Given the description of an element on the screen output the (x, y) to click on. 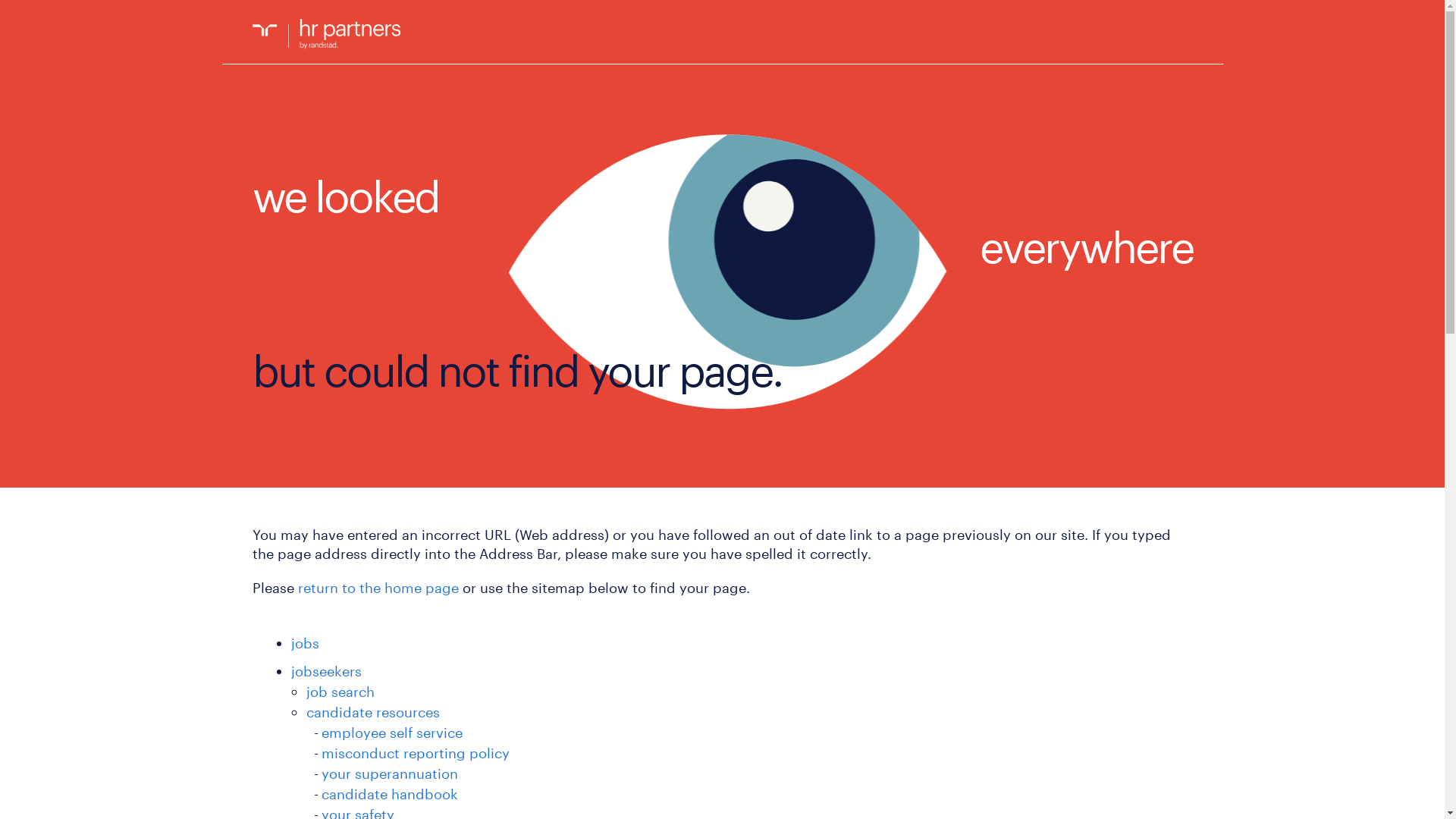
jobseekers Element type: text (326, 670)
candidate resources Element type: text (372, 711)
return to the home page Element type: text (377, 587)
misconduct reporting policy Element type: text (415, 752)
your superannuation Element type: text (389, 773)
employee self service Element type: text (391, 732)
jobs Element type: text (305, 642)
candidate handbook Element type: text (389, 793)
job search Element type: text (340, 691)
